Given the description of an element on the screen output the (x, y) to click on. 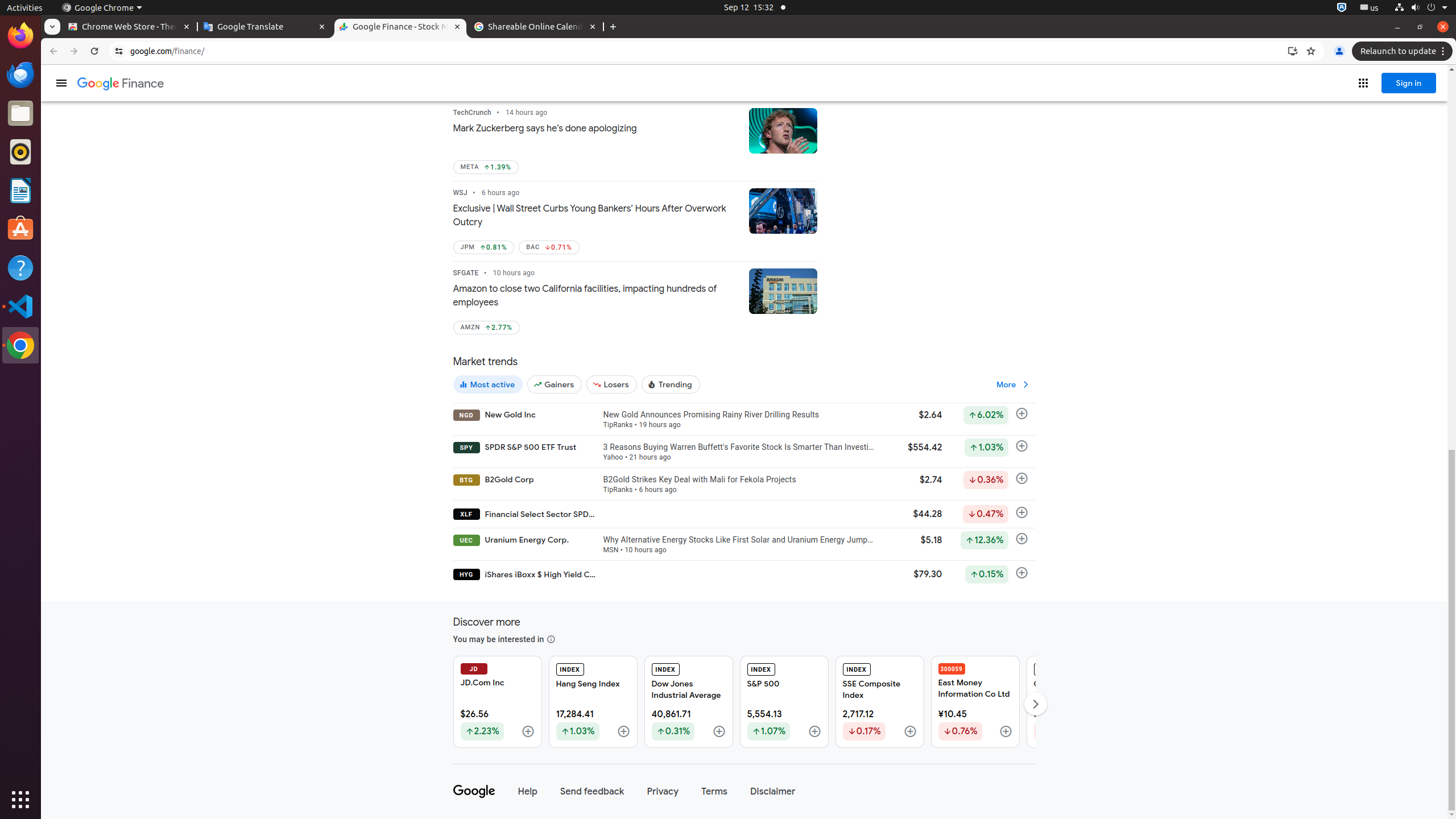
Google apps Element type: push-button (1362, 82)
300059 East Money Information Co Ltd ¥10.45 Down by 0.76% Element type: link (975, 701)
Install Google Finance Element type: push-button (1292, 51)
Finance Element type: link (120, 84)
Privacy Element type: link (662, 791)
